Given the description of an element on the screen output the (x, y) to click on. 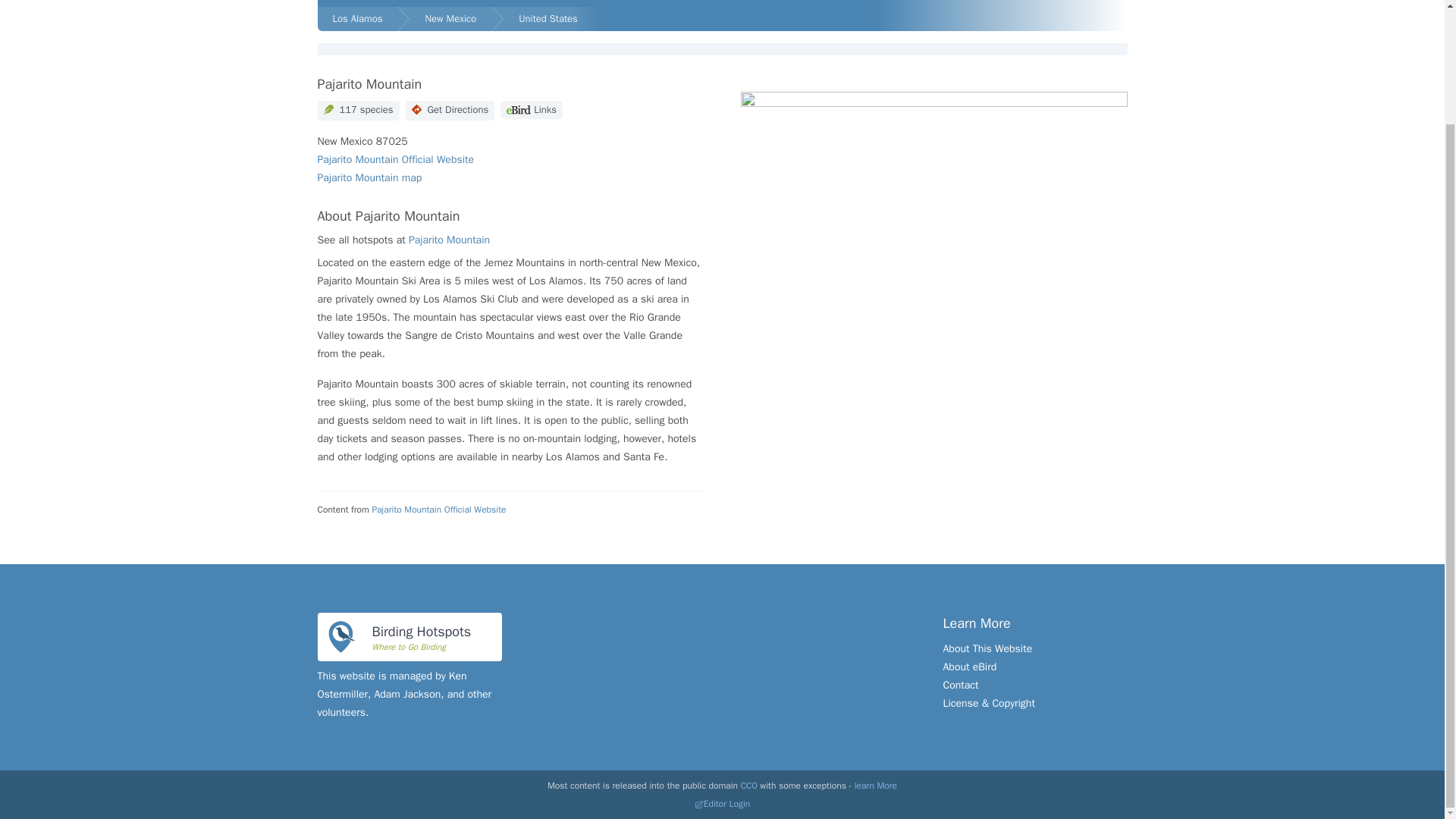
Pajarito Mountain Official Website (395, 159)
learn More (875, 785)
CC0 (749, 785)
Links (531, 109)
Get Directions (450, 110)
Pajarito Mountain Official Website (438, 509)
Los Alamos (357, 18)
United States (552, 18)
New Mexico (450, 18)
About This Website (987, 648)
